Given the description of an element on the screen output the (x, y) to click on. 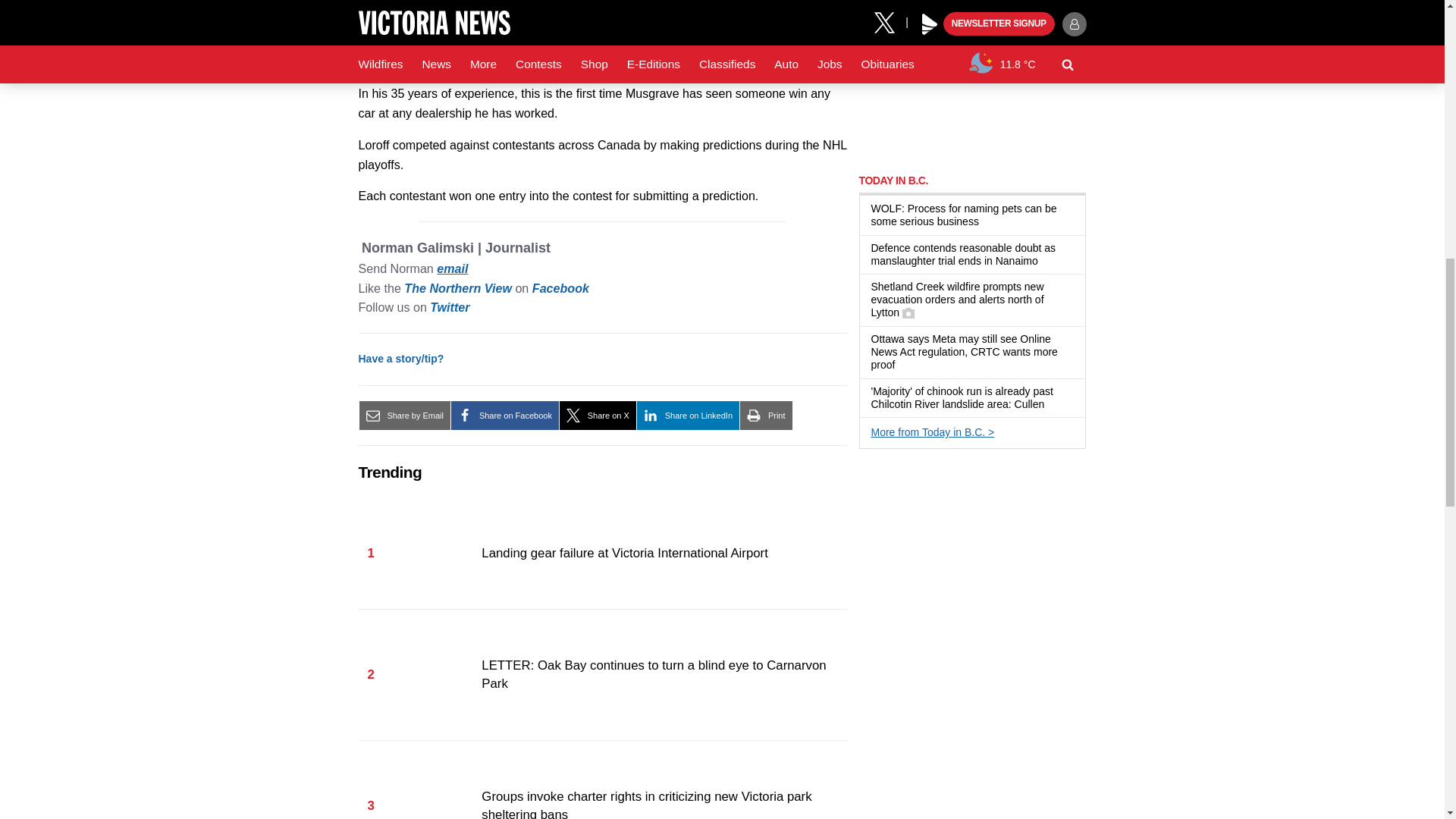
Has a gallery (908, 313)
